Given the description of an element on the screen output the (x, y) to click on. 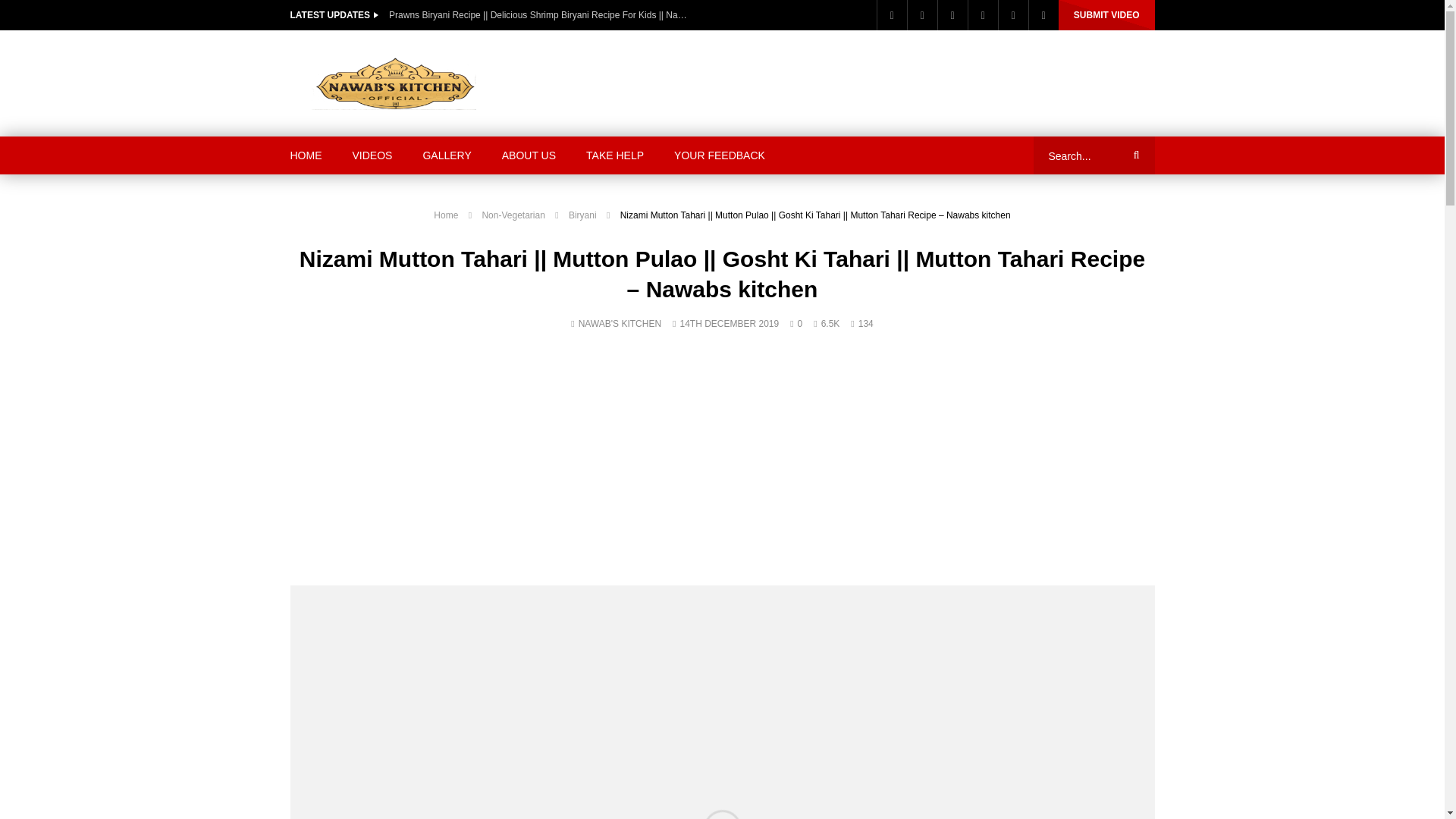
Search (1133, 155)
VIDEOS (371, 155)
Youtube (952, 15)
Facebook (891, 15)
YOUR FEEDBACK (719, 155)
Biryani (582, 214)
Twitter (922, 15)
Watch later (1012, 15)
HOME (305, 155)
TAKE HELP (614, 155)
GALLERY (446, 155)
Notifications (1042, 15)
Instagram (982, 15)
ABOUT US (528, 155)
Search (1133, 155)
